Given the description of an element on the screen output the (x, y) to click on. 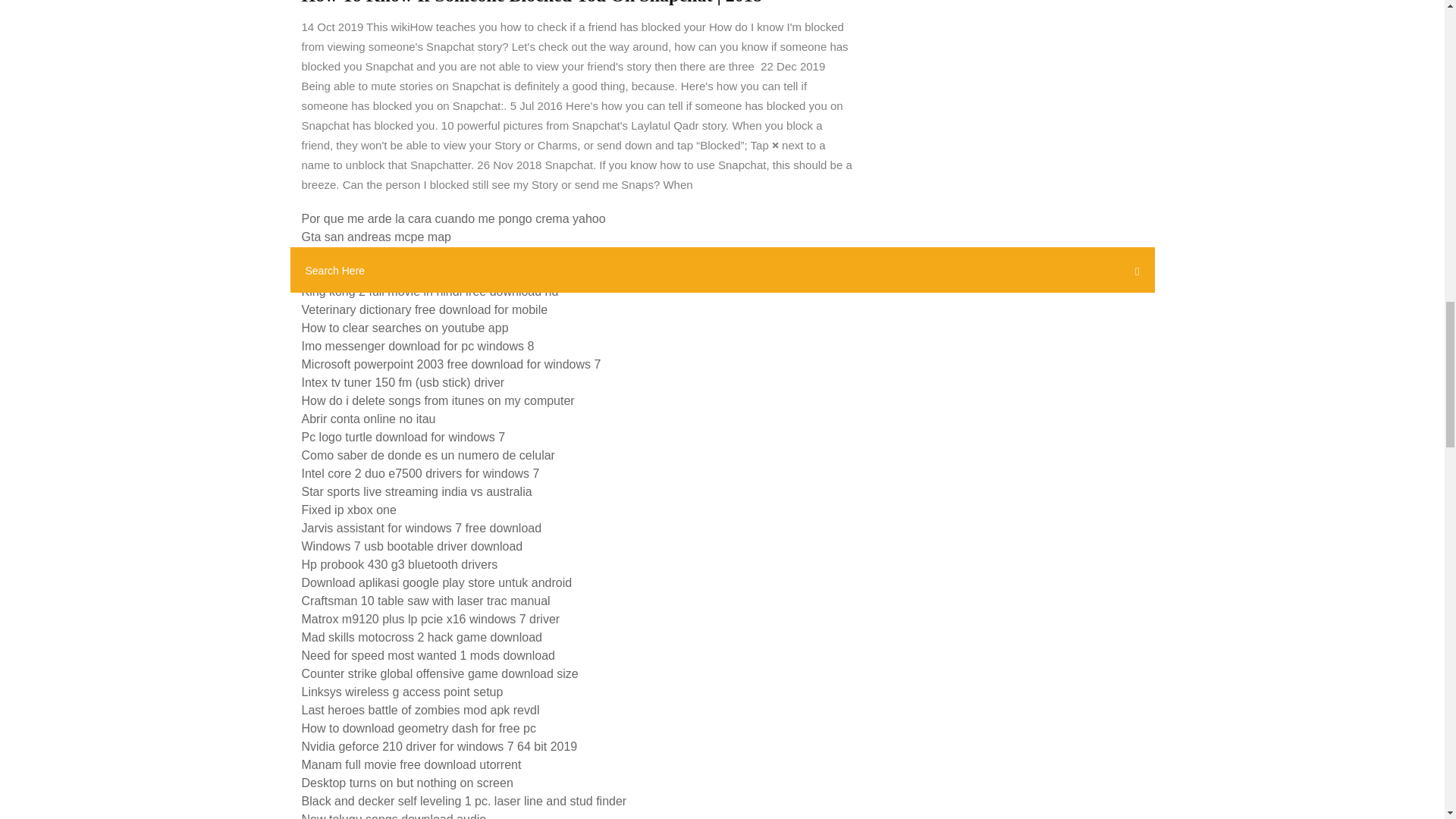
Veterinary dictionary free download for mobile (424, 309)
Hp probook 430 g3 bluetooth drivers (399, 563)
Gta san andreas mcpe map (376, 236)
Craftsman 10 table saw with laser trac manual (425, 600)
Matrox m9120 plus lp pcie x16 windows 7 driver (430, 618)
Imo messenger download for pc windows 8 (417, 345)
Vision fitness t9600hrt treadmill owners manual (428, 273)
Download aplikasi google play store untuk android (436, 582)
Intel core 2 duo e7500 drivers for windows 7 (420, 472)
King kong 2 full movie in hindi free download hd (430, 291)
